Given the description of an element on the screen output the (x, y) to click on. 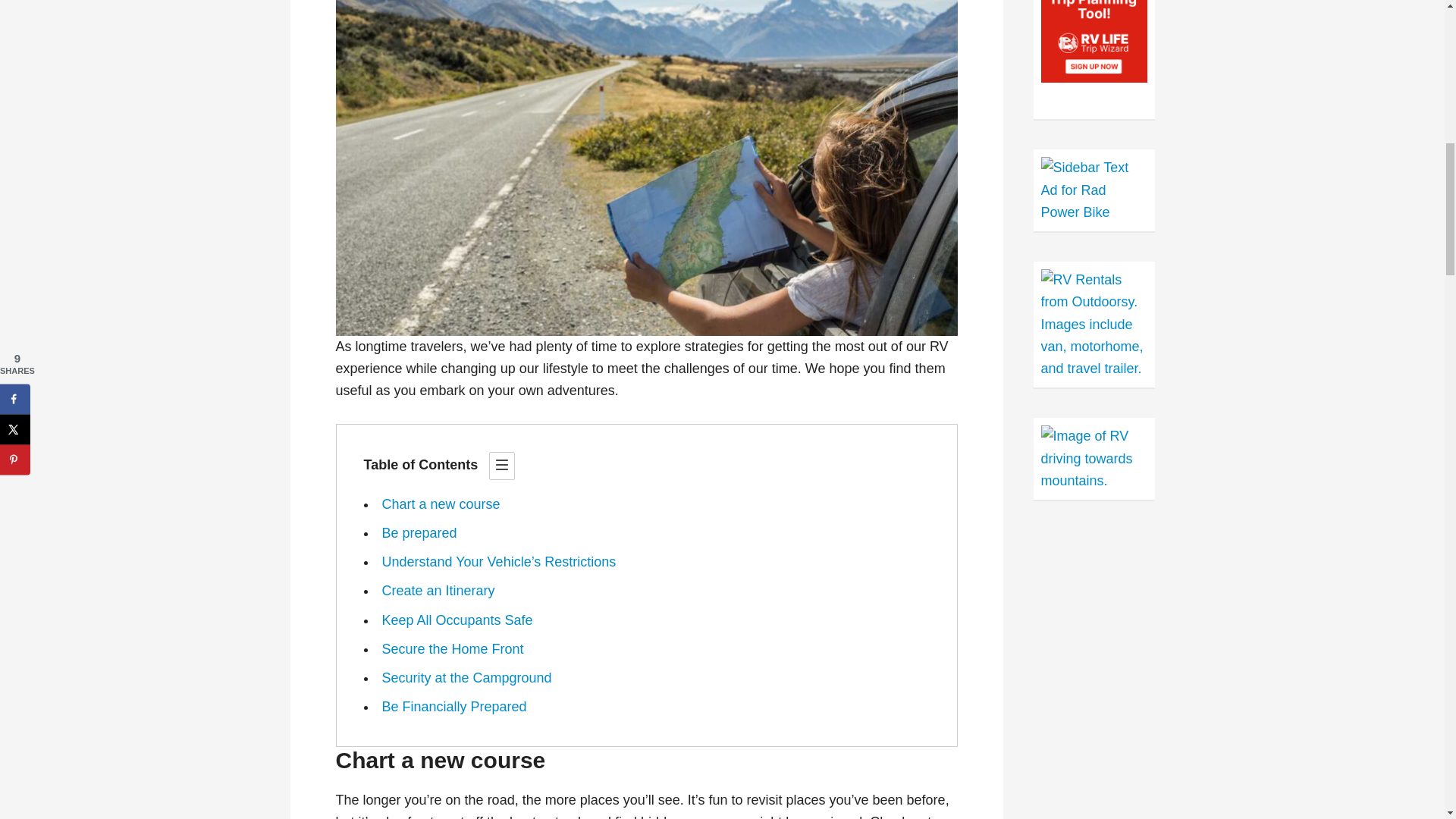
RV LIFE Trip Wizard (1094, 41)
